Given the description of an element on the screen output the (x, y) to click on. 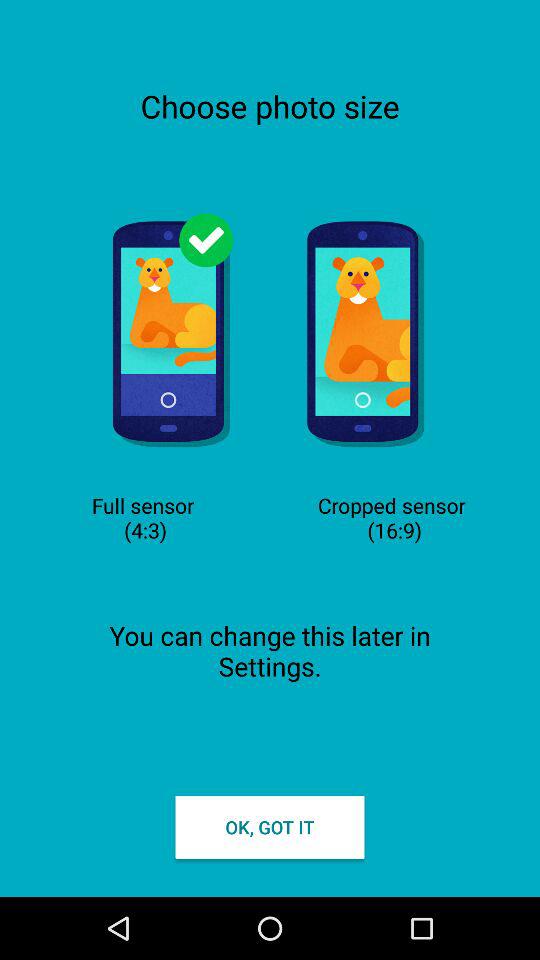
swipe until the ok, got it button (269, 826)
